Given the description of an element on the screen output the (x, y) to click on. 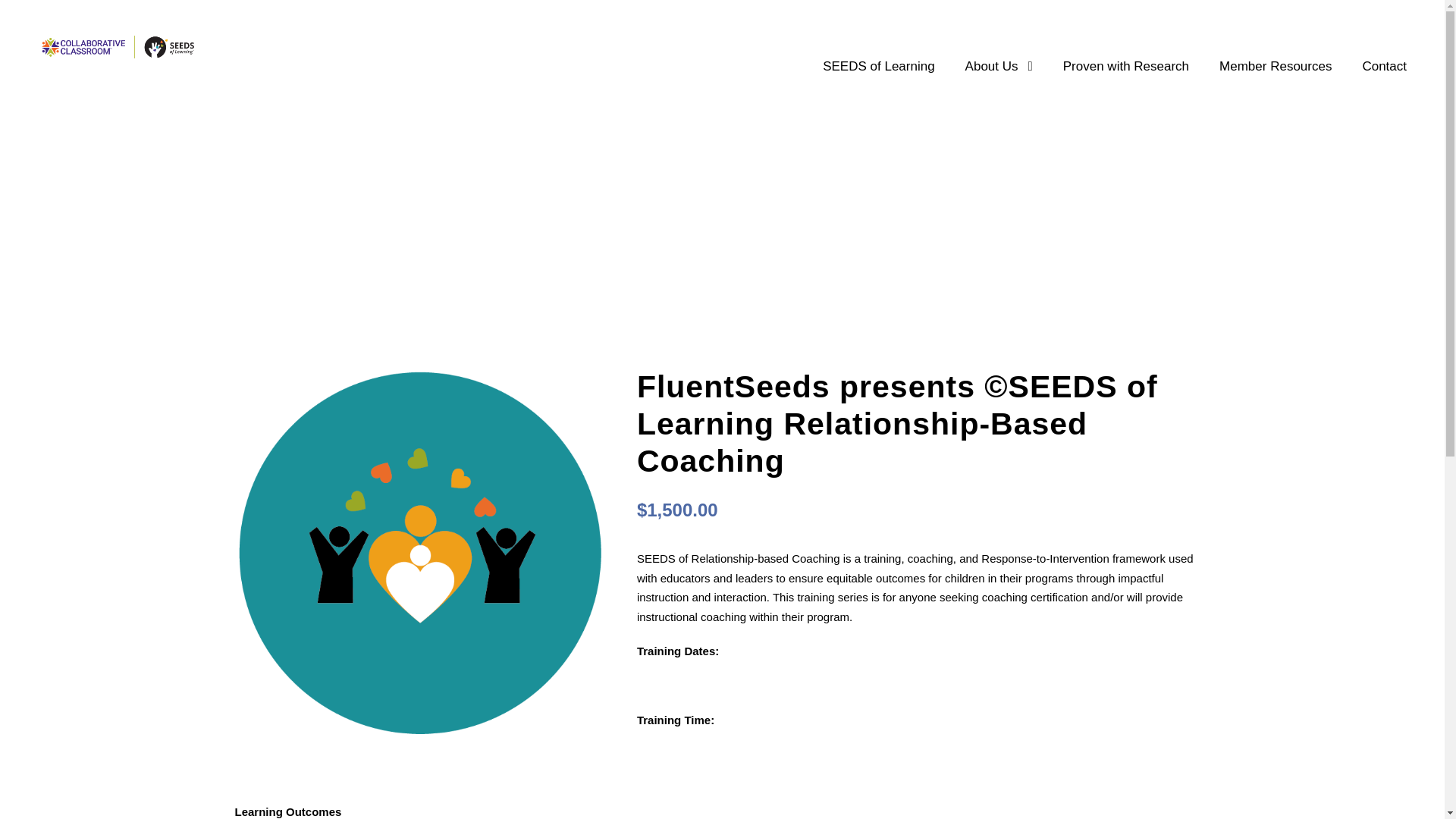
SEEDS of Learning (878, 79)
Proven with Research (1125, 79)
Member Resources (1276, 79)
About Us (998, 79)
Contact (1383, 79)
